Given the description of an element on the screen output the (x, y) to click on. 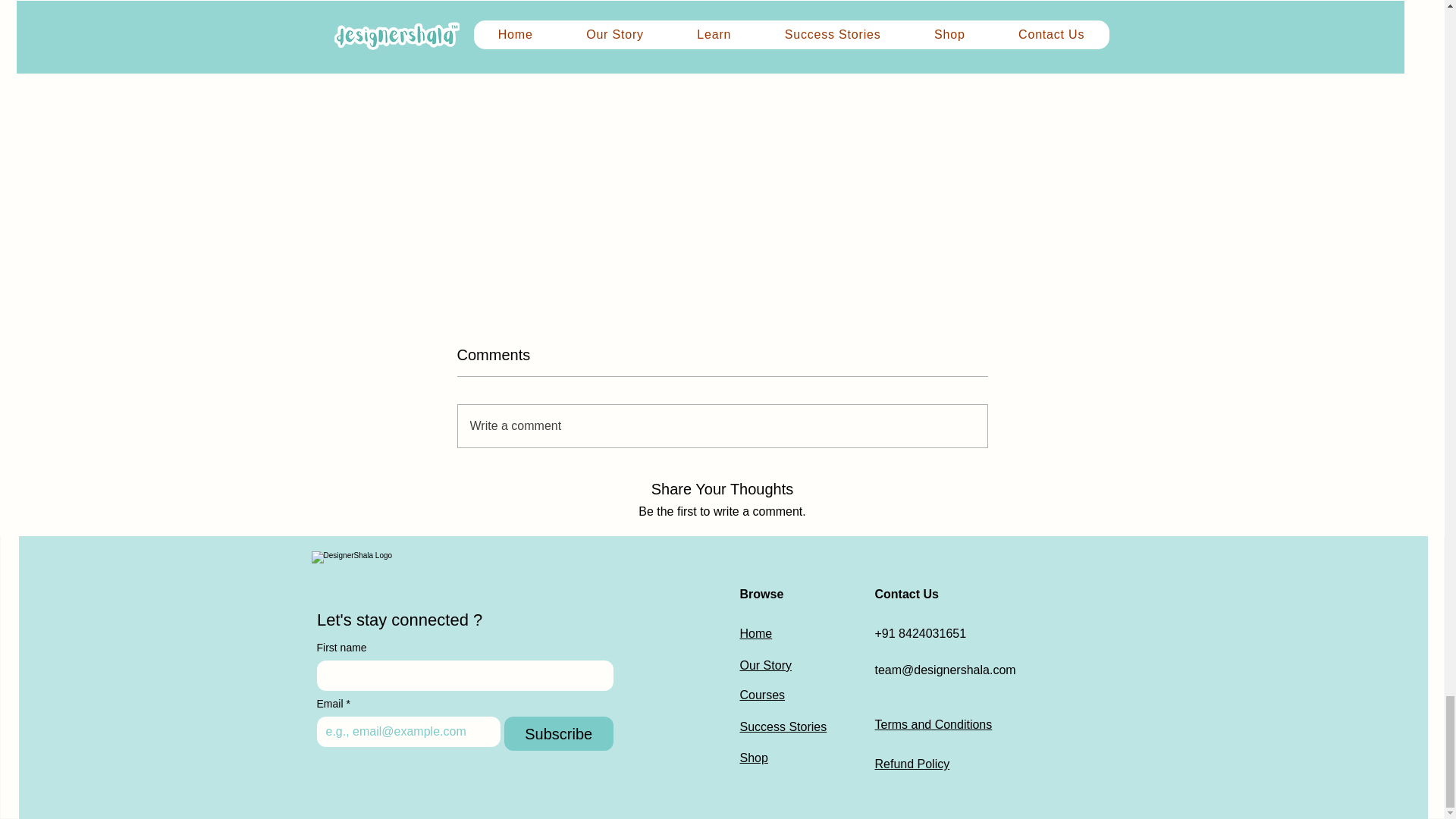
Home (756, 633)
Shop (753, 757)
See All (986, 2)
Write a comment (722, 425)
Our Story (765, 665)
Success Stories (783, 726)
Subscribe (557, 733)
Courses (762, 694)
